Given the description of an element on the screen output the (x, y) to click on. 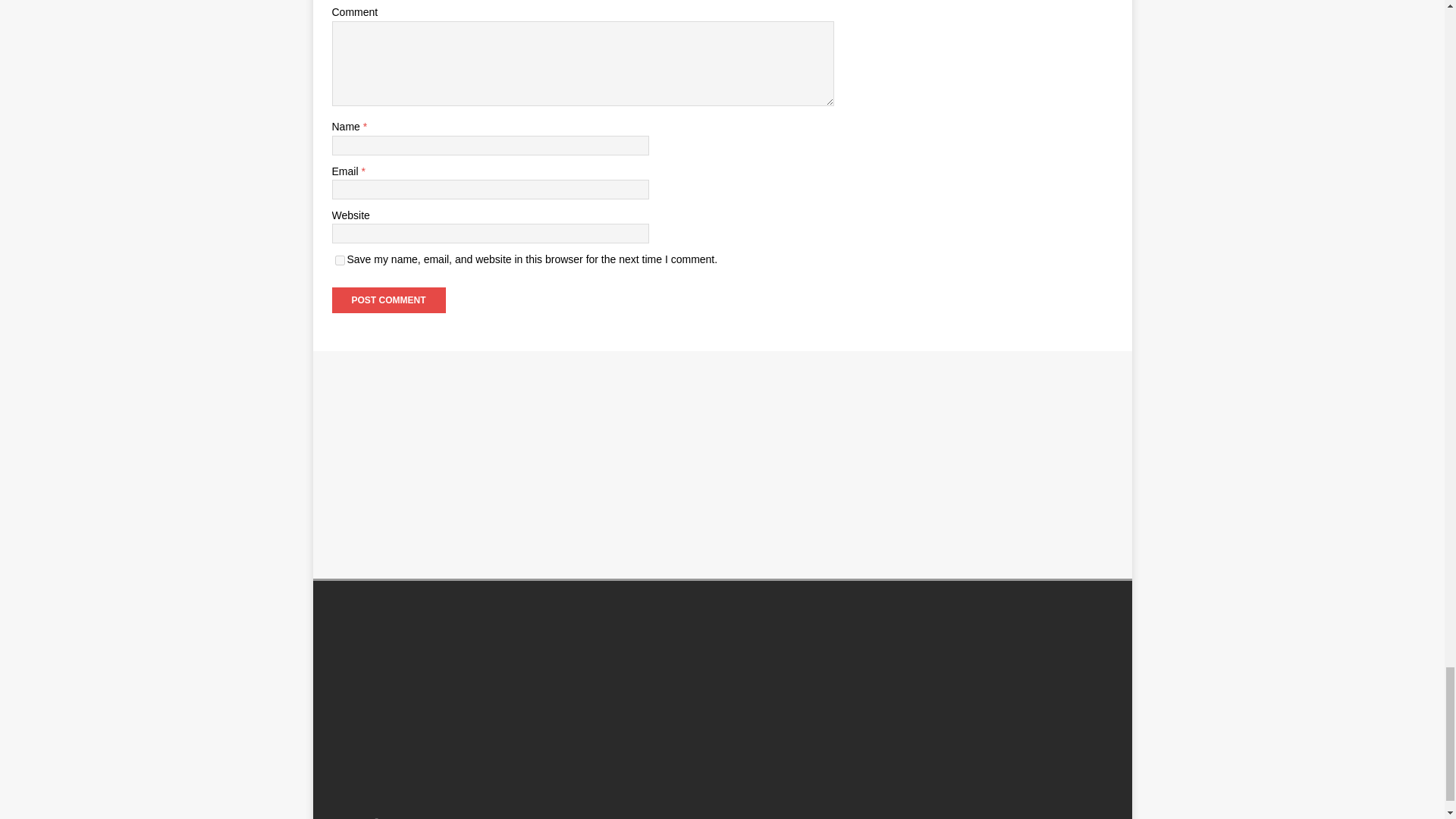
yes (339, 260)
Post Comment (388, 299)
